Given the description of an element on the screen output the (x, y) to click on. 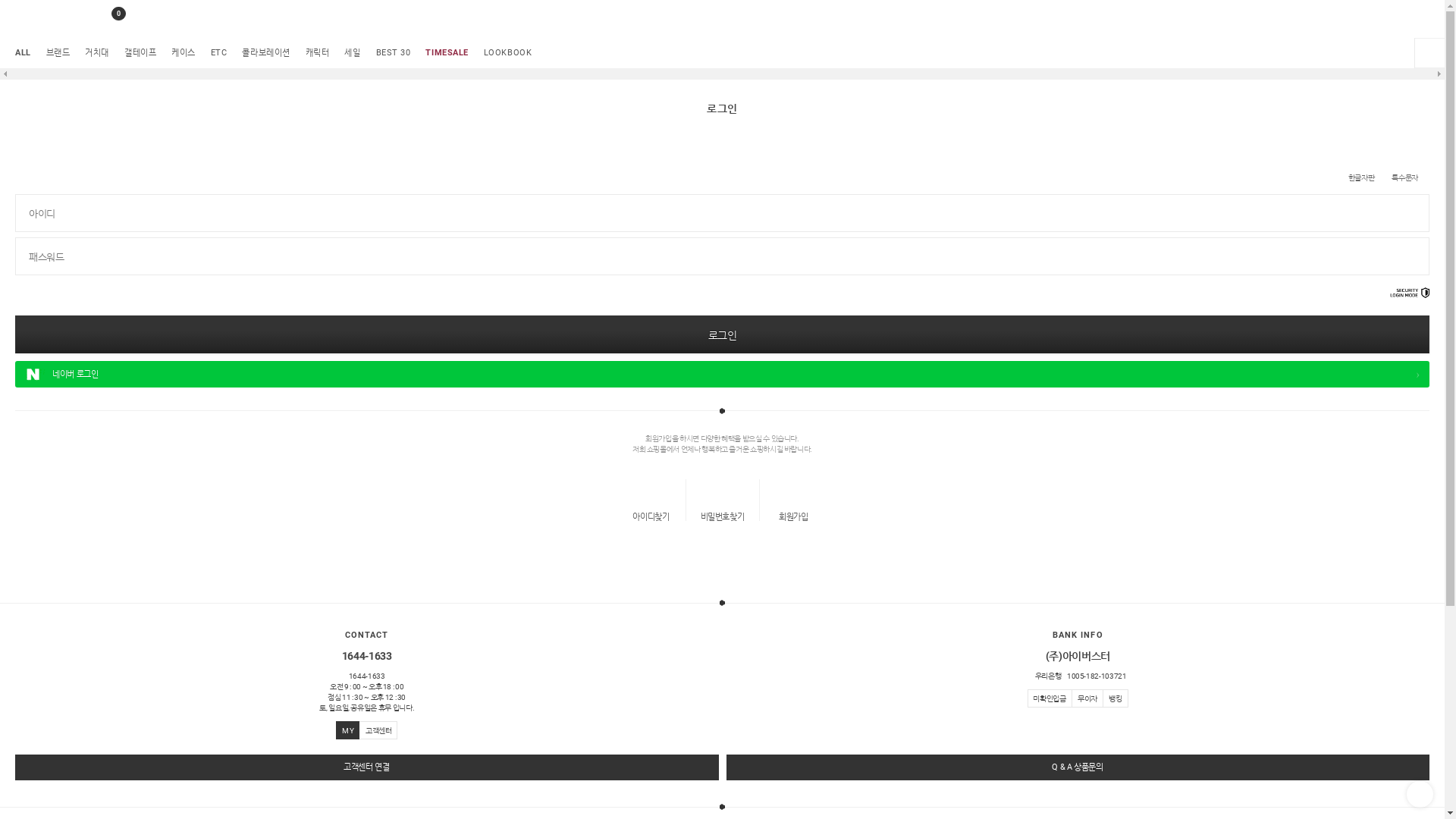
BEST 30 Element type: text (393, 52)
LOOKBOOK Element type: text (507, 52)
ALL Element type: text (22, 52)
ETC Element type: text (219, 52)
0 Element type: text (108, 18)
M Y Element type: text (347, 730)
TIMESALE Element type: text (446, 52)
